Given the description of an element on the screen output the (x, y) to click on. 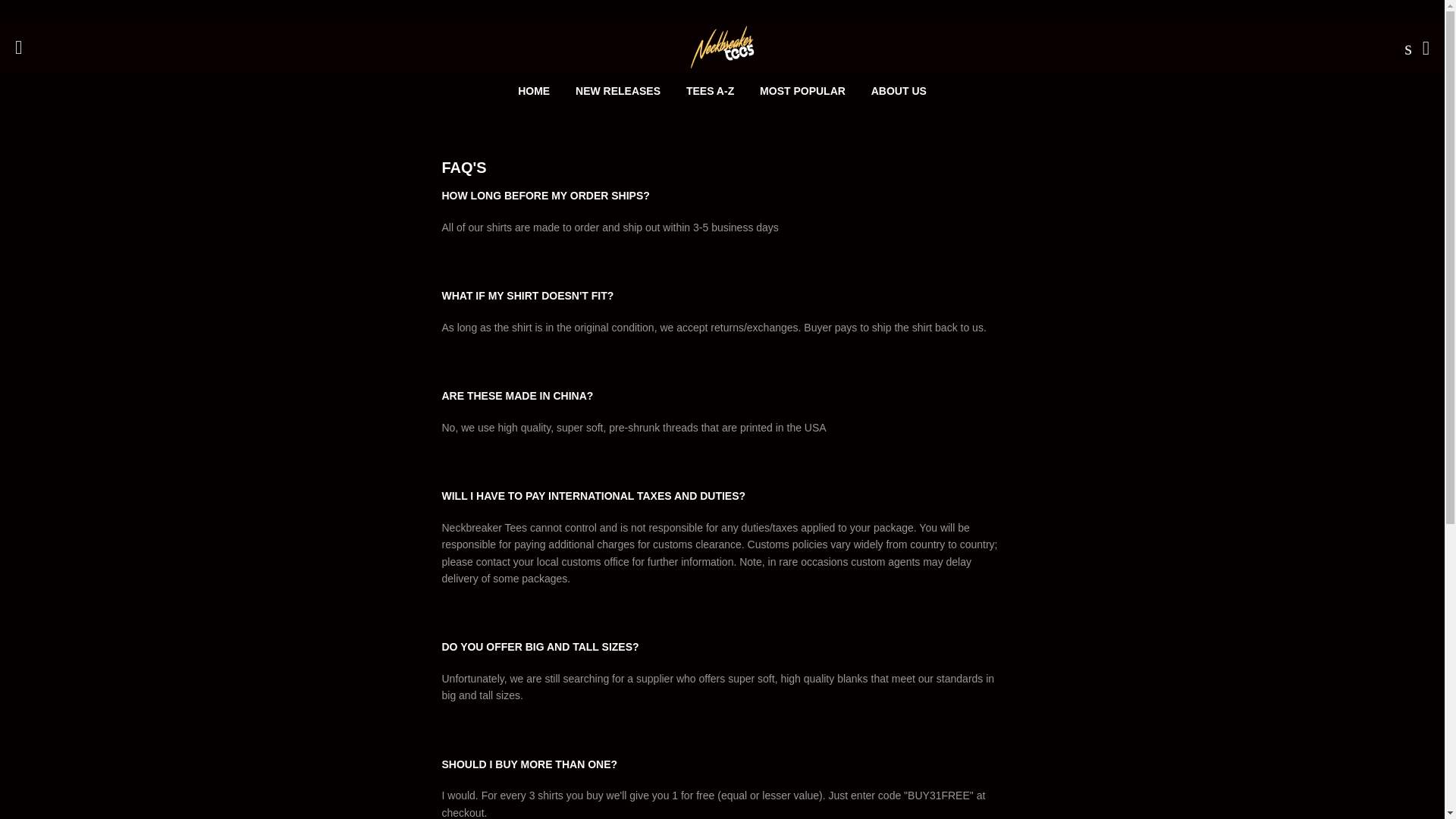
TEES A-Z (710, 90)
HOME (533, 90)
ABOUT US (898, 90)
MOST POPULAR (802, 90)
NEW RELEASES (617, 90)
